Given the description of an element on the screen output the (x, y) to click on. 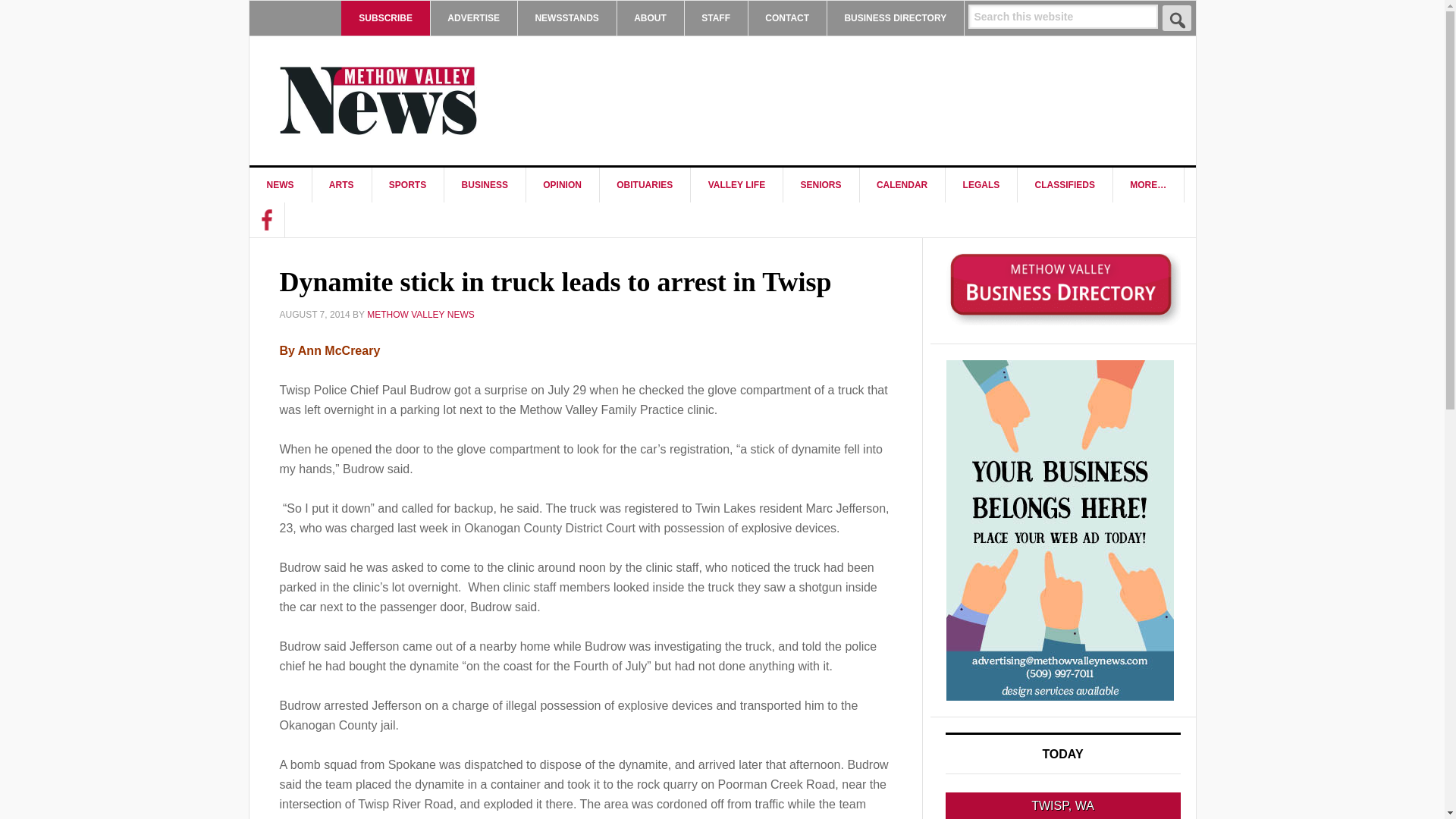
LEGALS (980, 184)
STAFF (716, 18)
ARTS (341, 184)
NEWSSTANDS (565, 18)
CONTACT (787, 18)
ADVERTISE (473, 18)
BUSINESS (484, 184)
VALLEY LIFE (737, 184)
CALENDAR (901, 184)
METHOW VALLEY NEWS (377, 100)
